Given the description of an element on the screen output the (x, y) to click on. 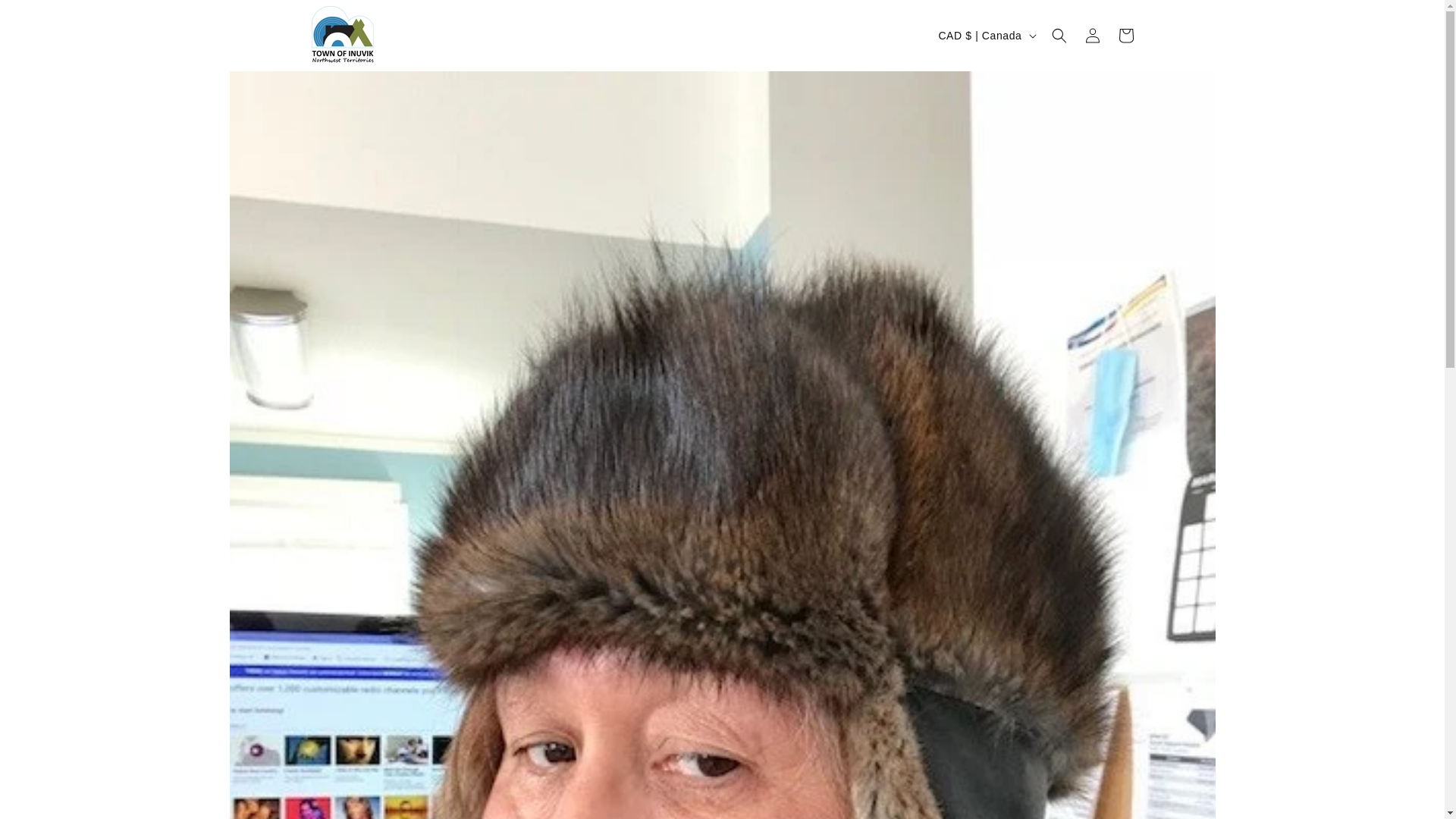
Cart (1124, 35)
Log in (1091, 35)
Skip to content (45, 17)
